Given the description of an element on the screen output the (x, y) to click on. 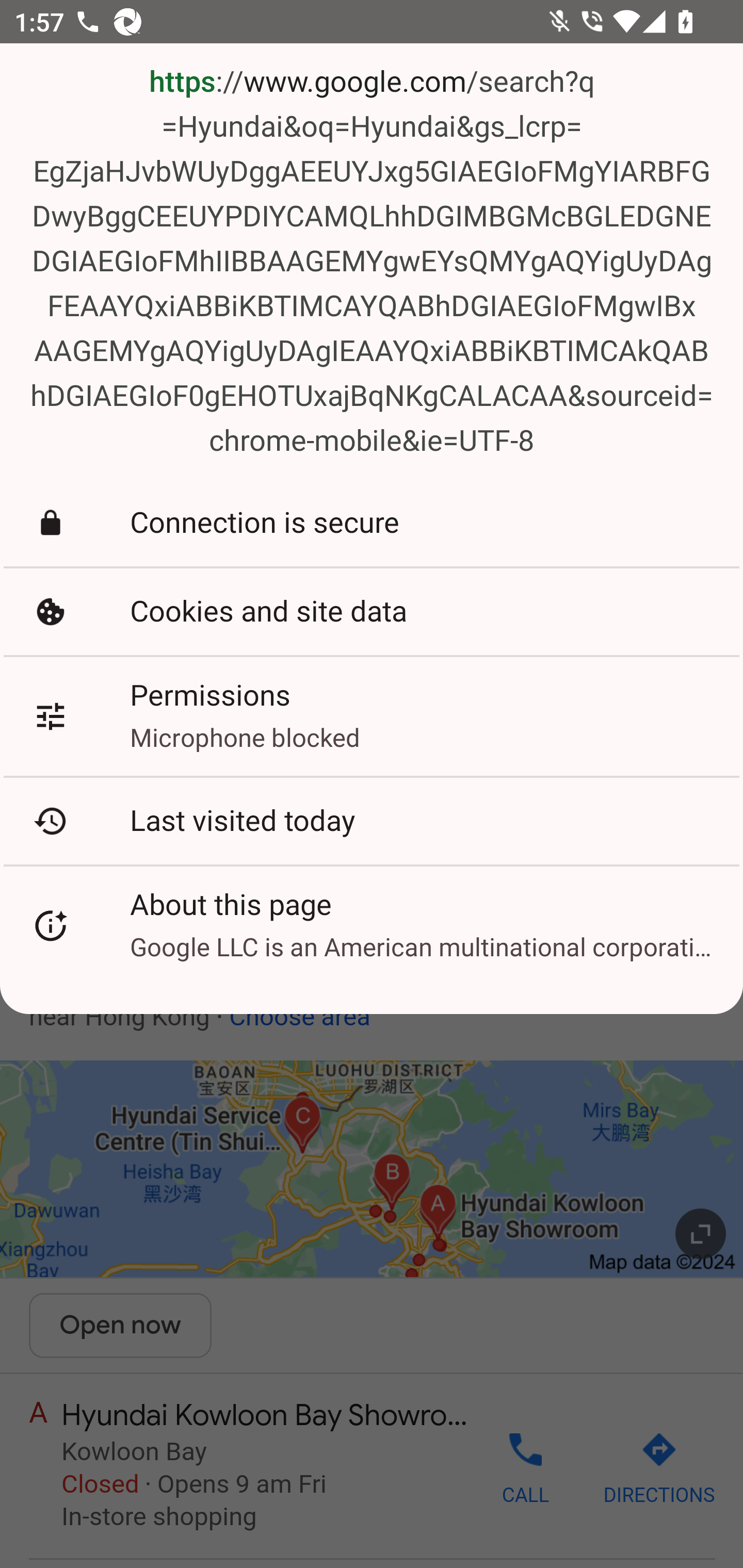
Connection is secure (371, 522)
Cookies and site data (371, 611)
Permissions Microphone blocked (371, 716)
Last visited today (371, 820)
